Given the description of an element on the screen output the (x, y) to click on. 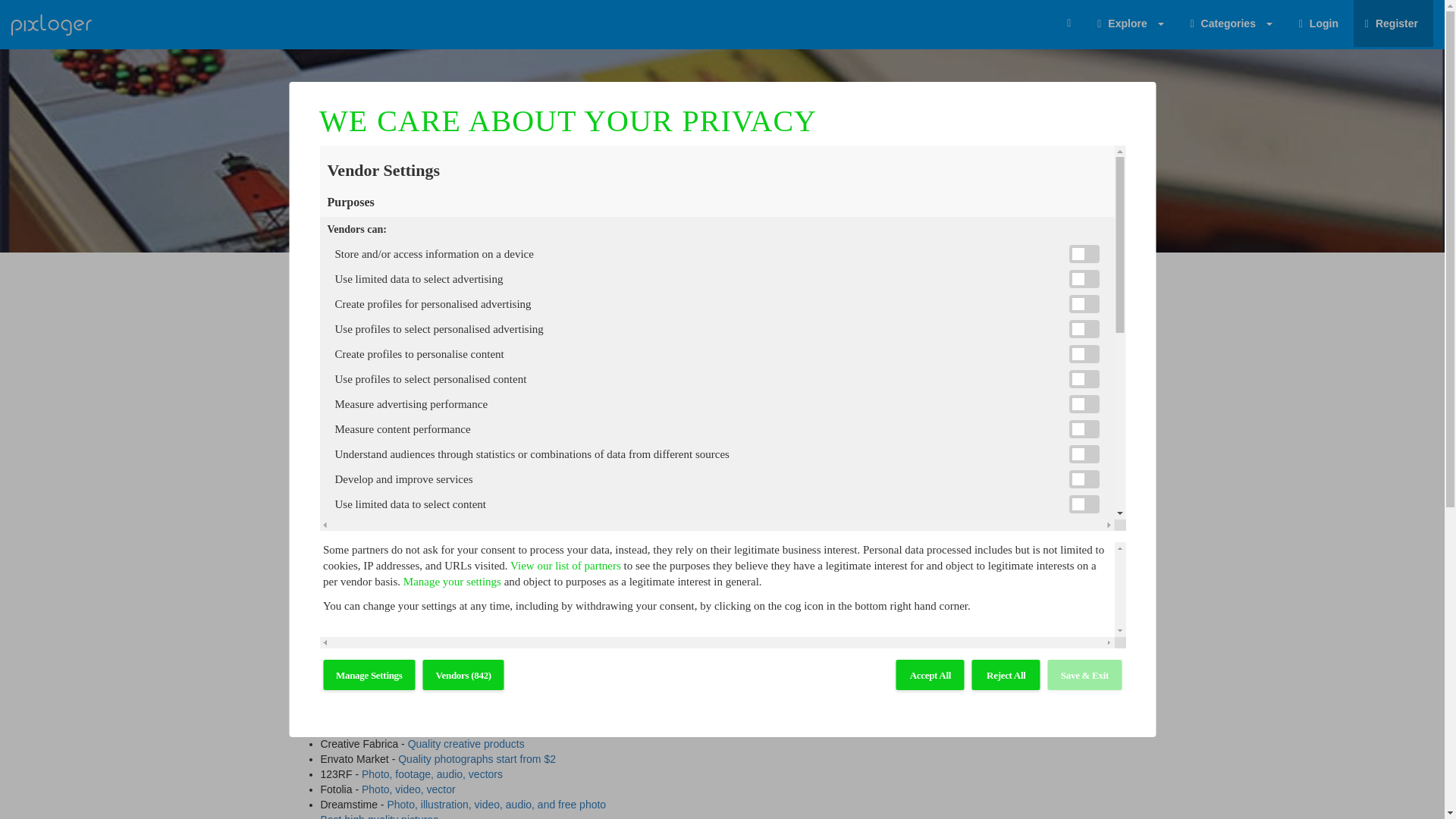
Categories (1233, 23)
Login (1320, 23)
Photo, video, vector (408, 788)
Photo, footage, audio, vectors (431, 774)
Register (1393, 23)
Best high quality pictures (379, 816)
Explore (1131, 23)
Photo, illustration, video, audio, and free photo (496, 804)
Quality creative products (465, 743)
Quality Images, footage, music... (465, 728)
